Given the description of an element on the screen output the (x, y) to click on. 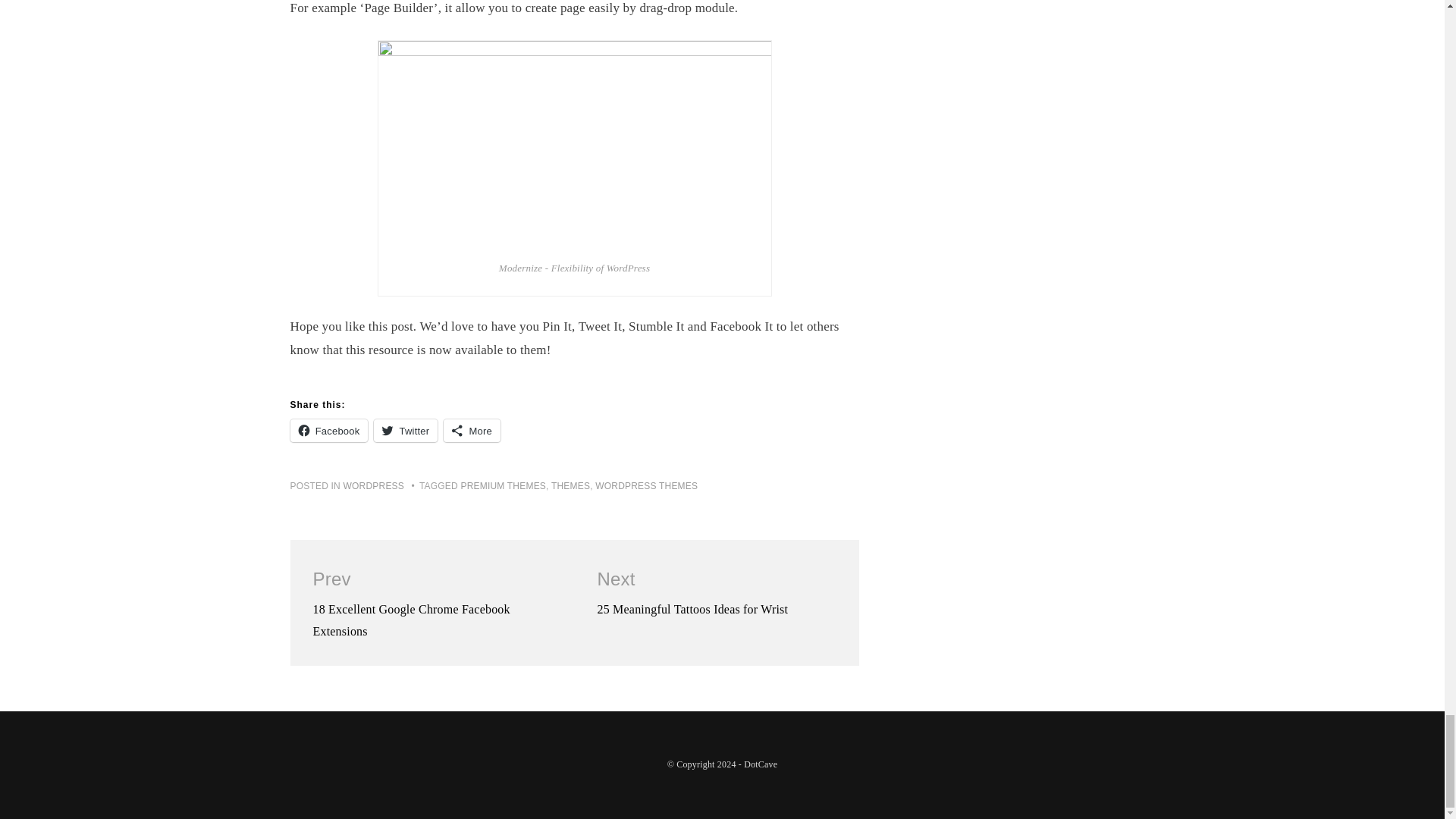
WORDPRESS (373, 485)
Twitter (406, 430)
Click to share on Twitter (406, 430)
Facebook (328, 430)
Click to share on Facebook (328, 430)
More (472, 430)
